Given the description of an element on the screen output the (x, y) to click on. 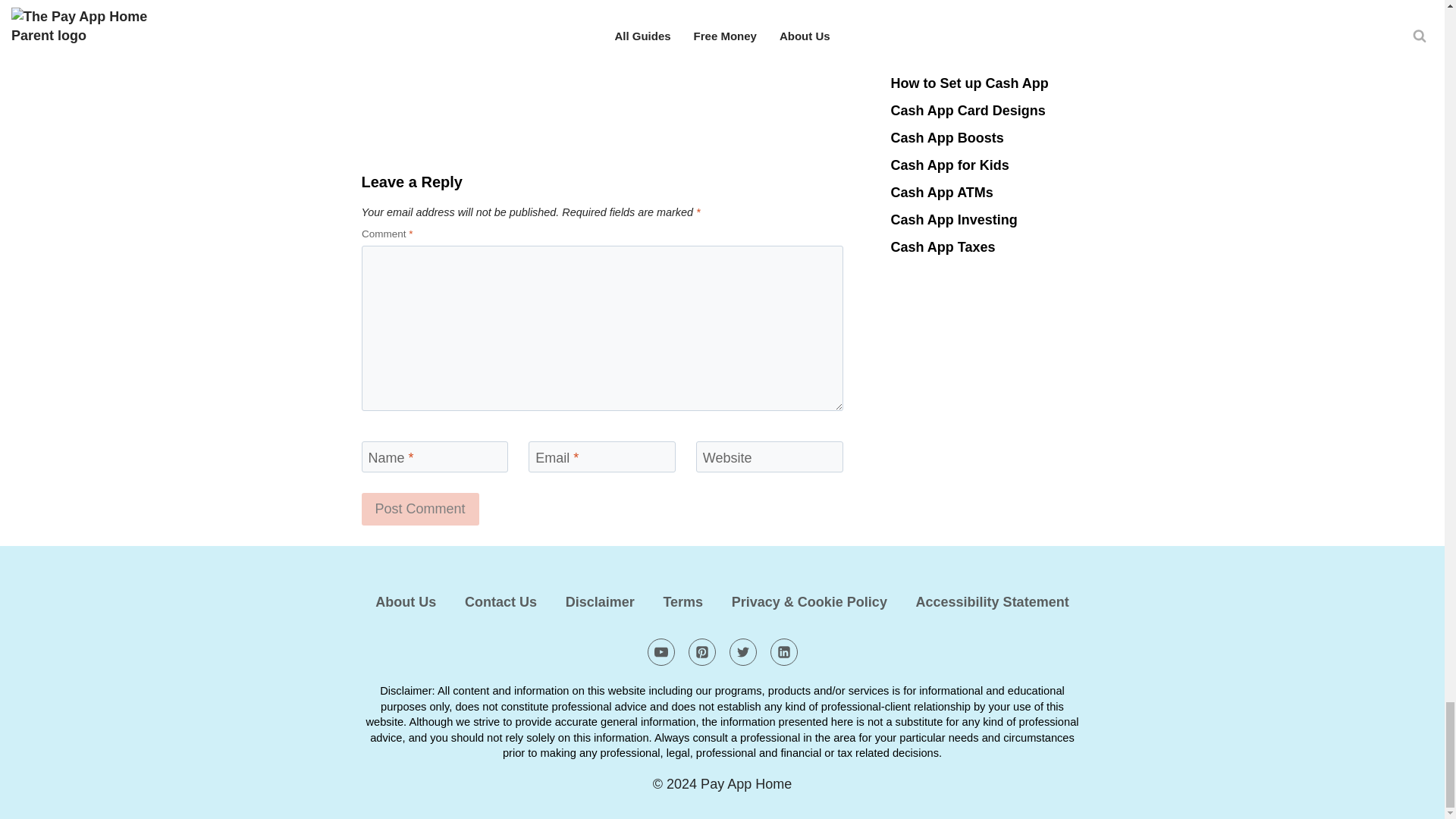
Post Comment (420, 509)
